Given the description of an element on the screen output the (x, y) to click on. 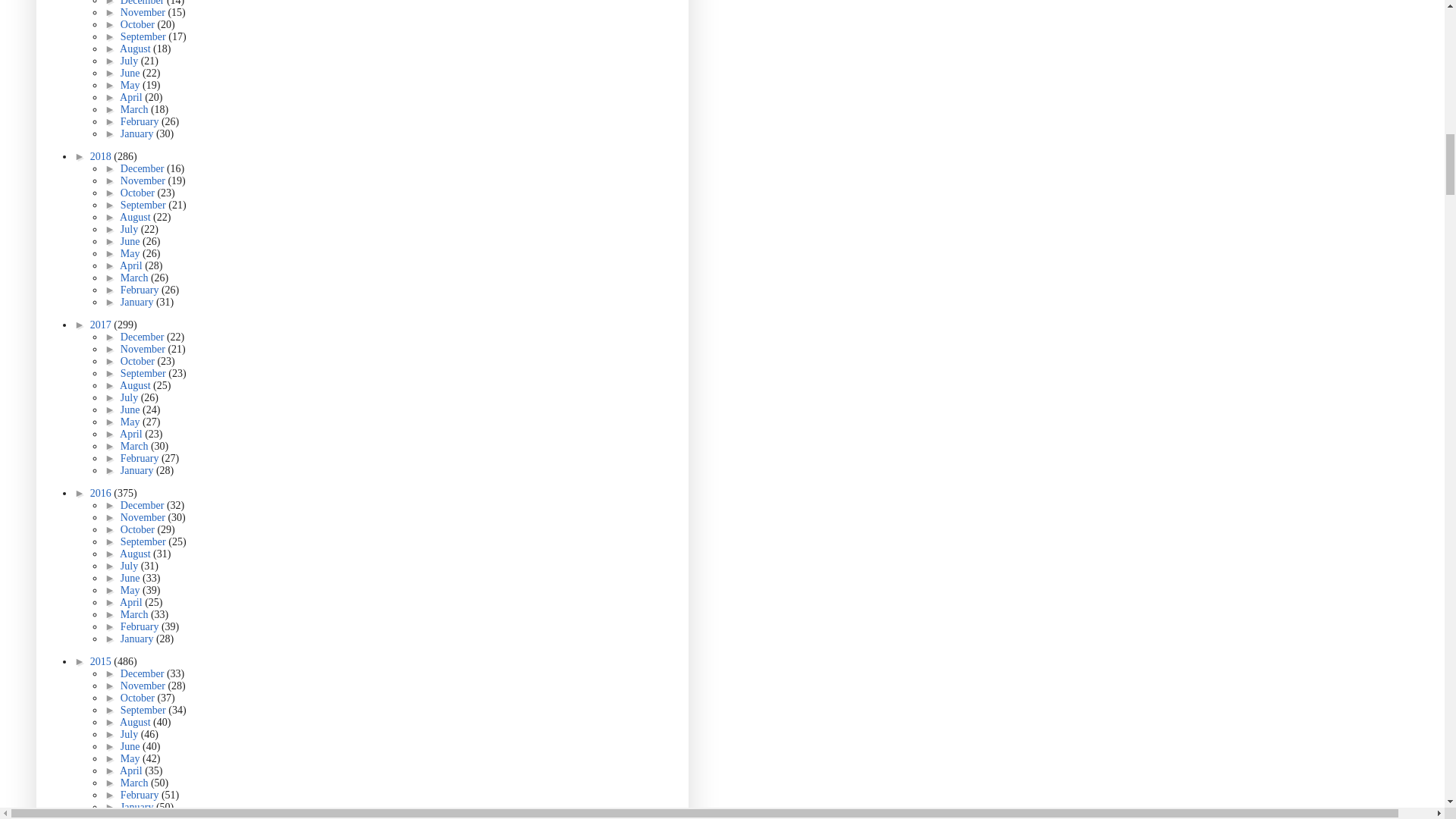
November (144, 12)
October (138, 24)
December (143, 2)
